Given the description of an element on the screen output the (x, y) to click on. 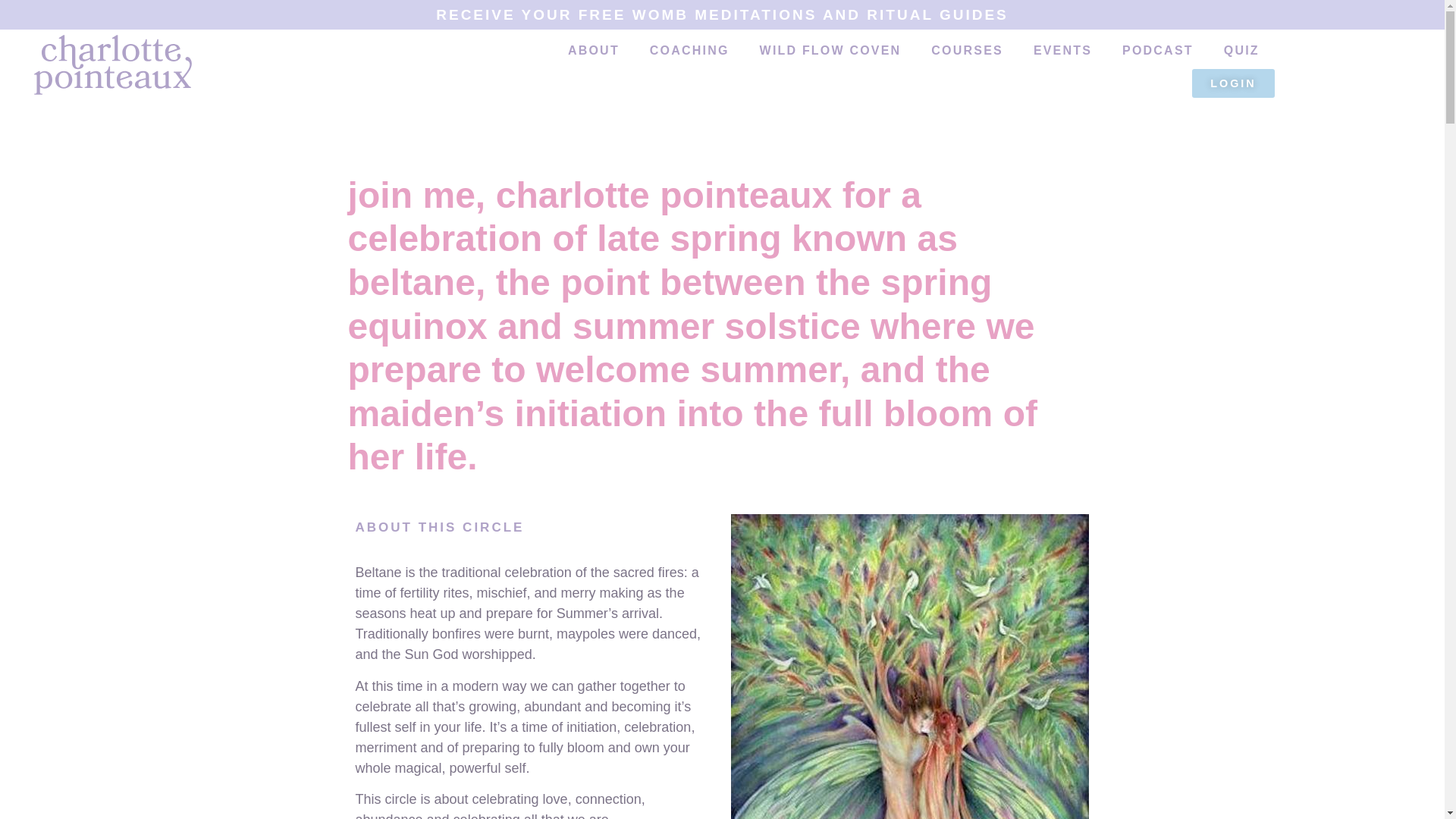
QUIZ (1241, 50)
RECEIVE YOUR FREE WOMB MEDITATIONS AND RITUAL GUIDES (722, 14)
WILD FLOW COVEN (830, 50)
COACHING (689, 50)
EVENTS (1061, 50)
ABOUT (593, 50)
PODCAST (1157, 50)
COURSES (966, 50)
